Given the description of an element on the screen output the (x, y) to click on. 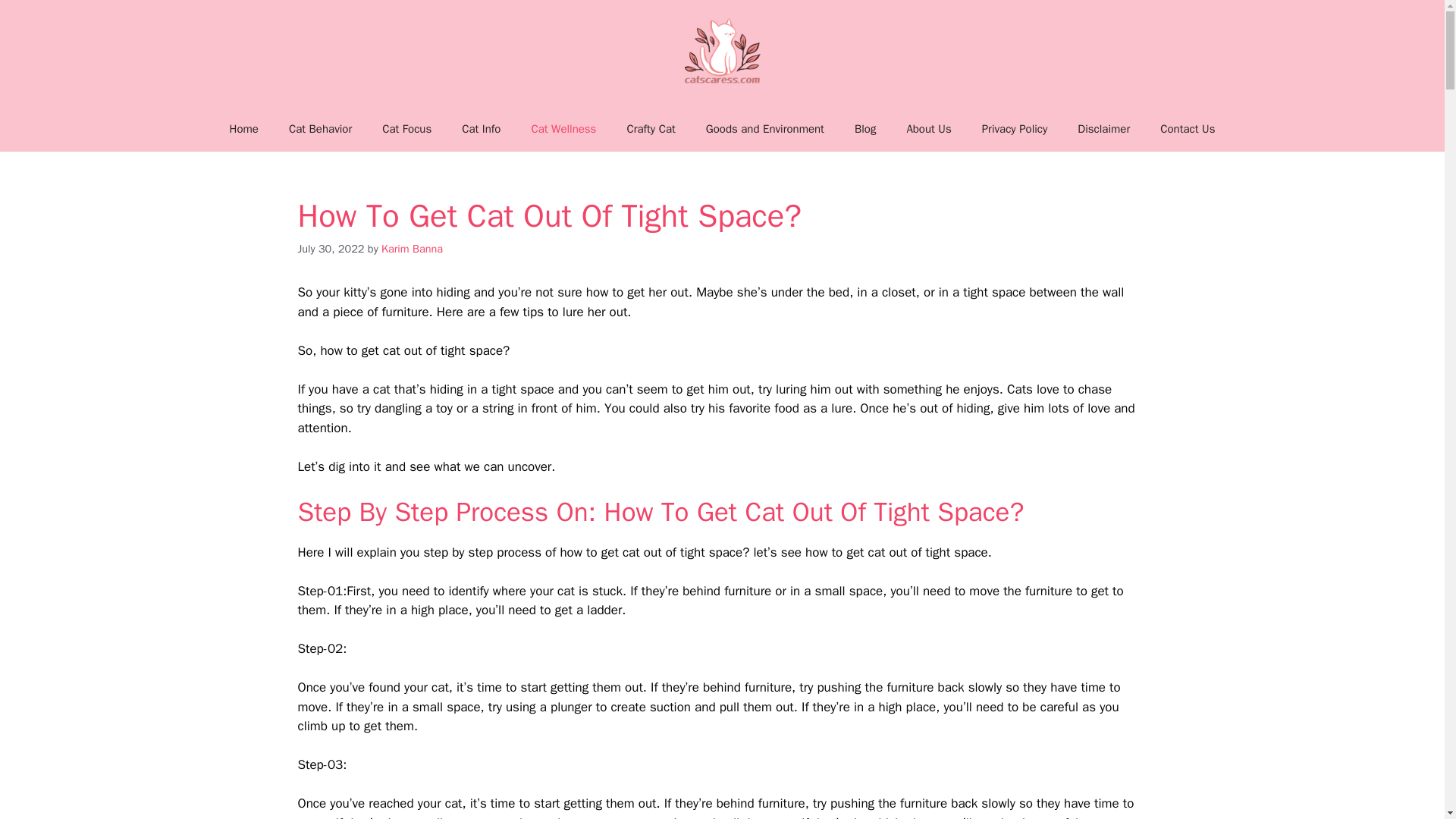
Contact Us (1187, 128)
Home (243, 128)
Crafty Cat (650, 128)
Goods and Environment (765, 128)
Cat Wellness (563, 128)
About Us (928, 128)
View all posts by Karim Banna (411, 248)
Blog (865, 128)
Cat Behavior (319, 128)
Privacy Policy (1014, 128)
Cat Focus (406, 128)
Cat Info (480, 128)
Disclaimer (1103, 128)
Karim Banna (411, 248)
